Given the description of an element on the screen output the (x, y) to click on. 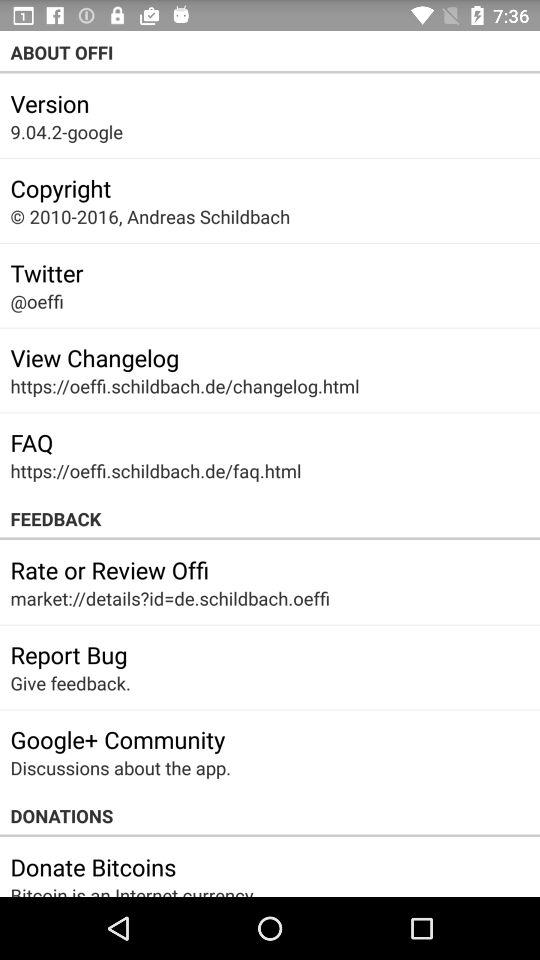
choose item above @oeffi icon (46, 273)
